Given the description of an element on the screen output the (x, y) to click on. 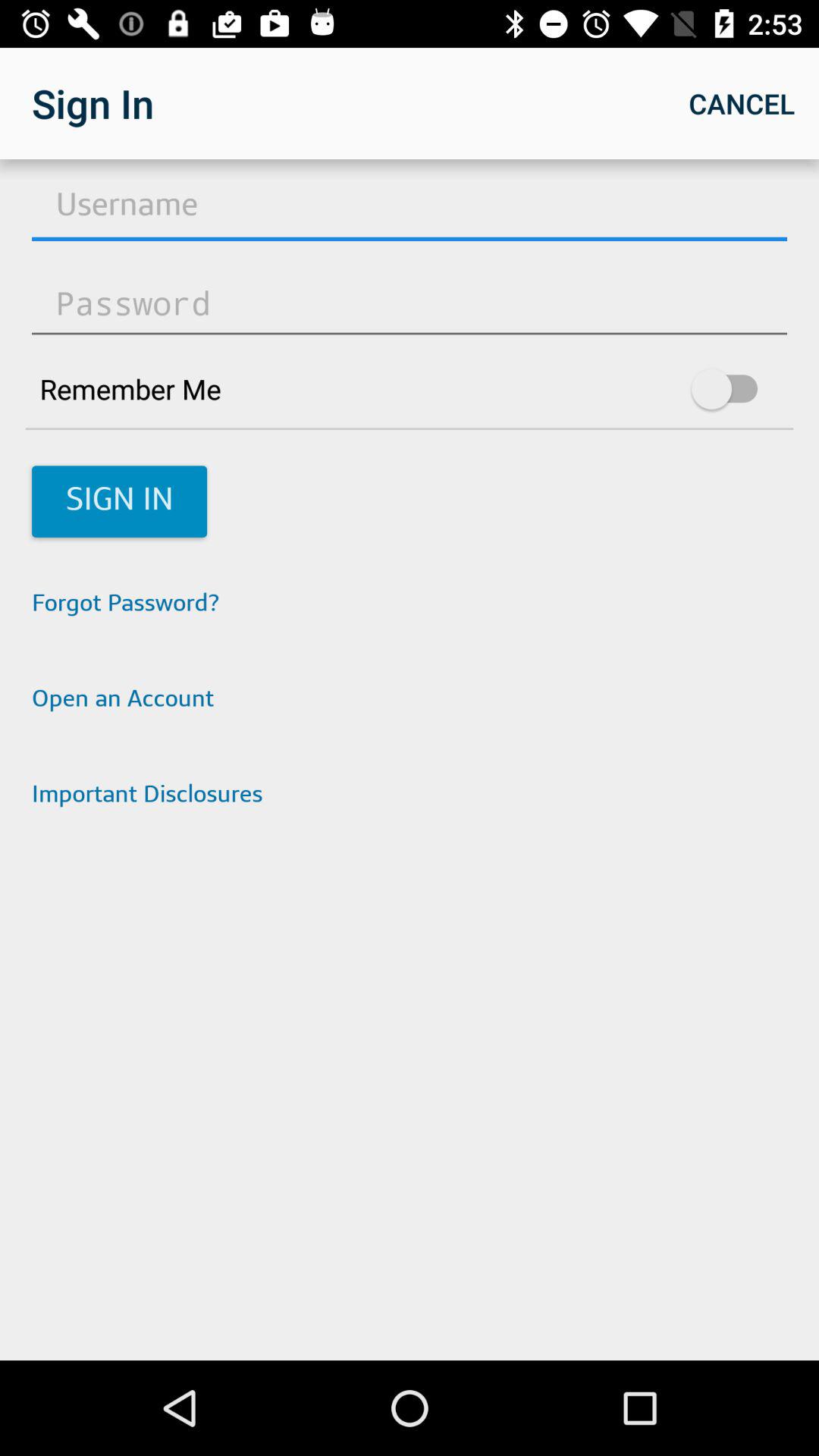
scroll to the forgot password? icon (409, 604)
